Given the description of an element on the screen output the (x, y) to click on. 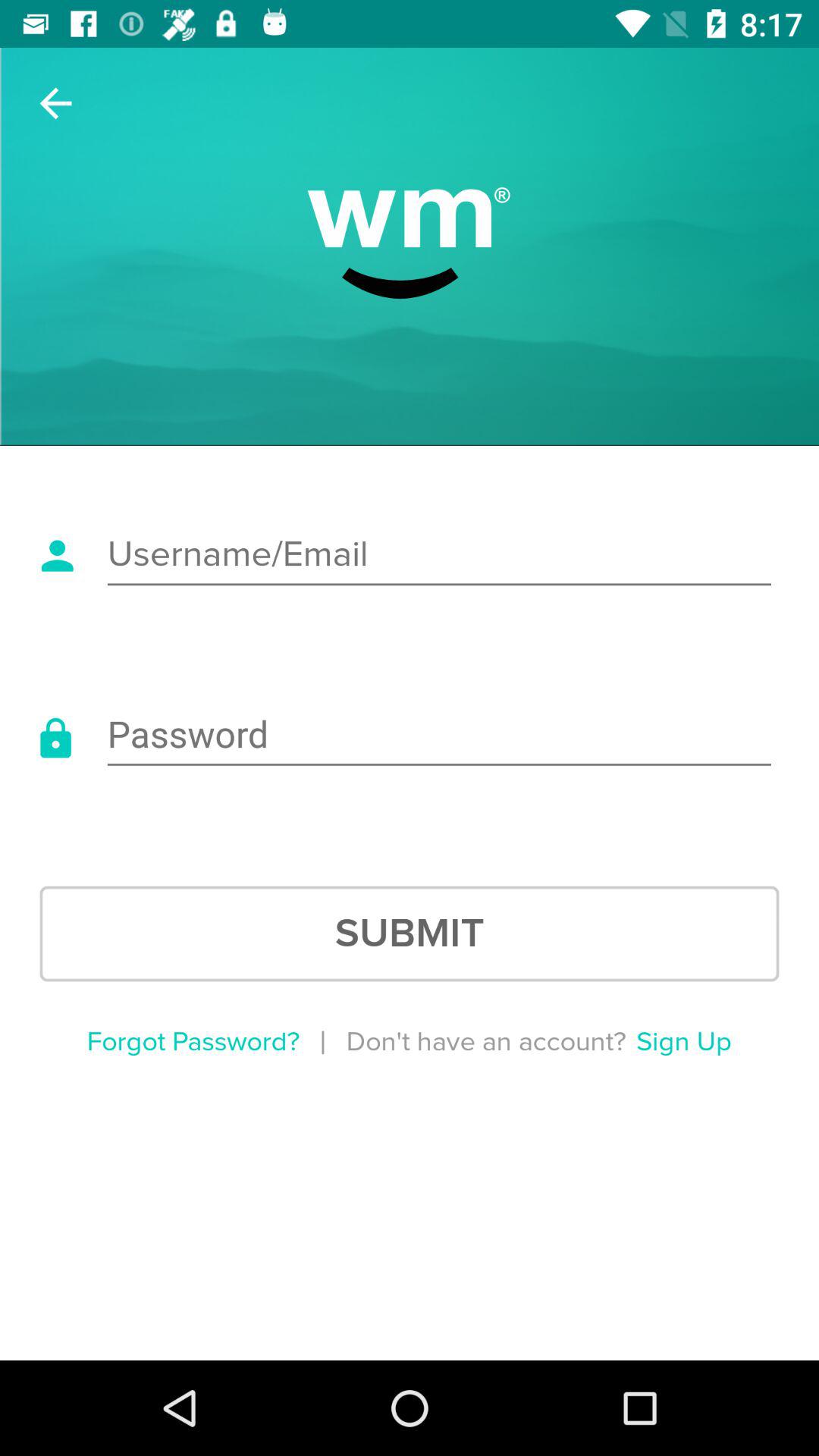
tap the item next to the | item (193, 1042)
